Given the description of an element on the screen output the (x, y) to click on. 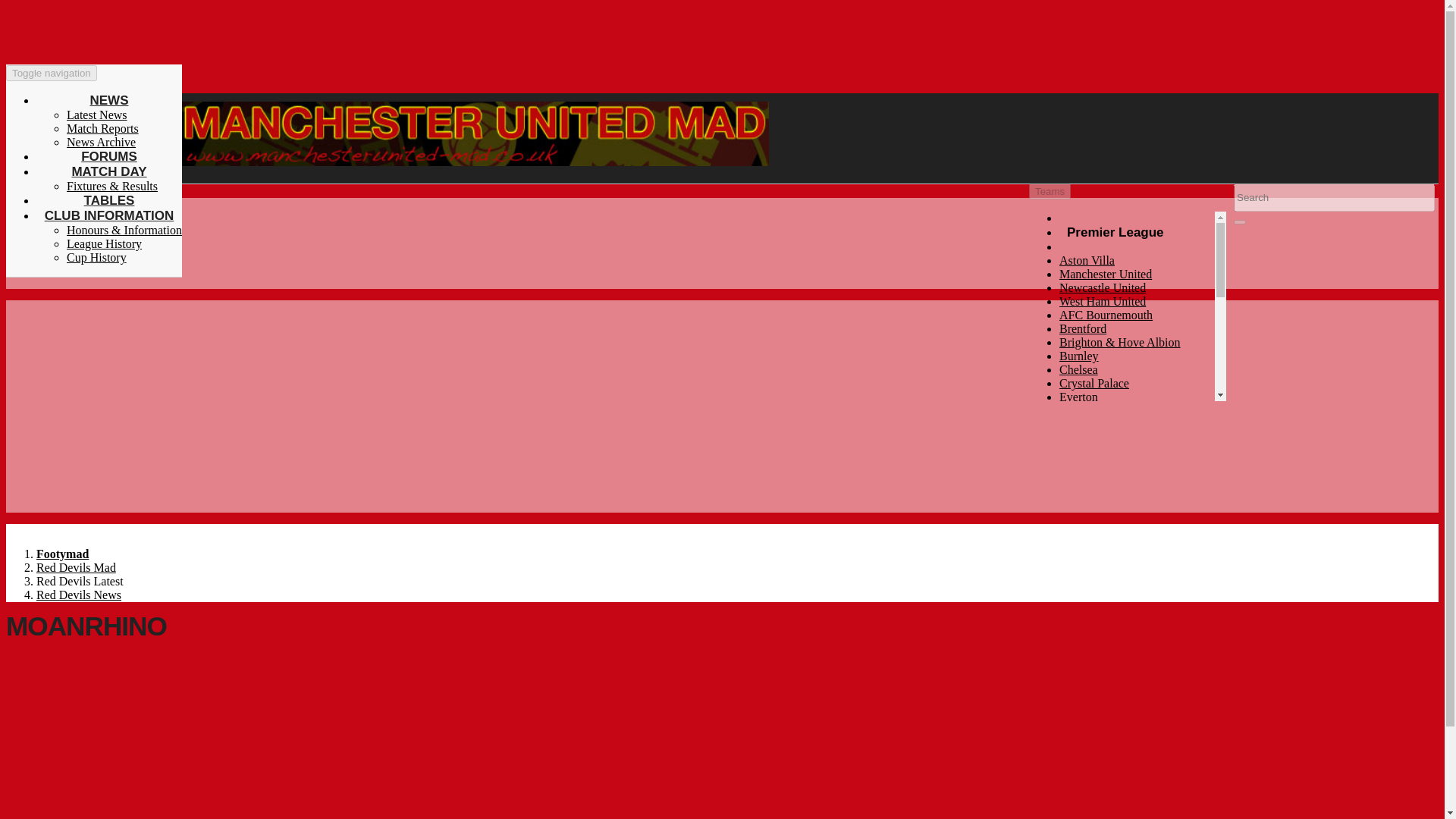
League History (103, 243)
Everton (1078, 396)
MATCH DAY (109, 171)
Northern Ireland (1099, 589)
Republic Ireland (1099, 603)
Latest News (97, 114)
Cup History (96, 256)
FORUMS (108, 156)
Luton Town (1088, 423)
News Archive (100, 141)
